Given the description of an element on the screen output the (x, y) to click on. 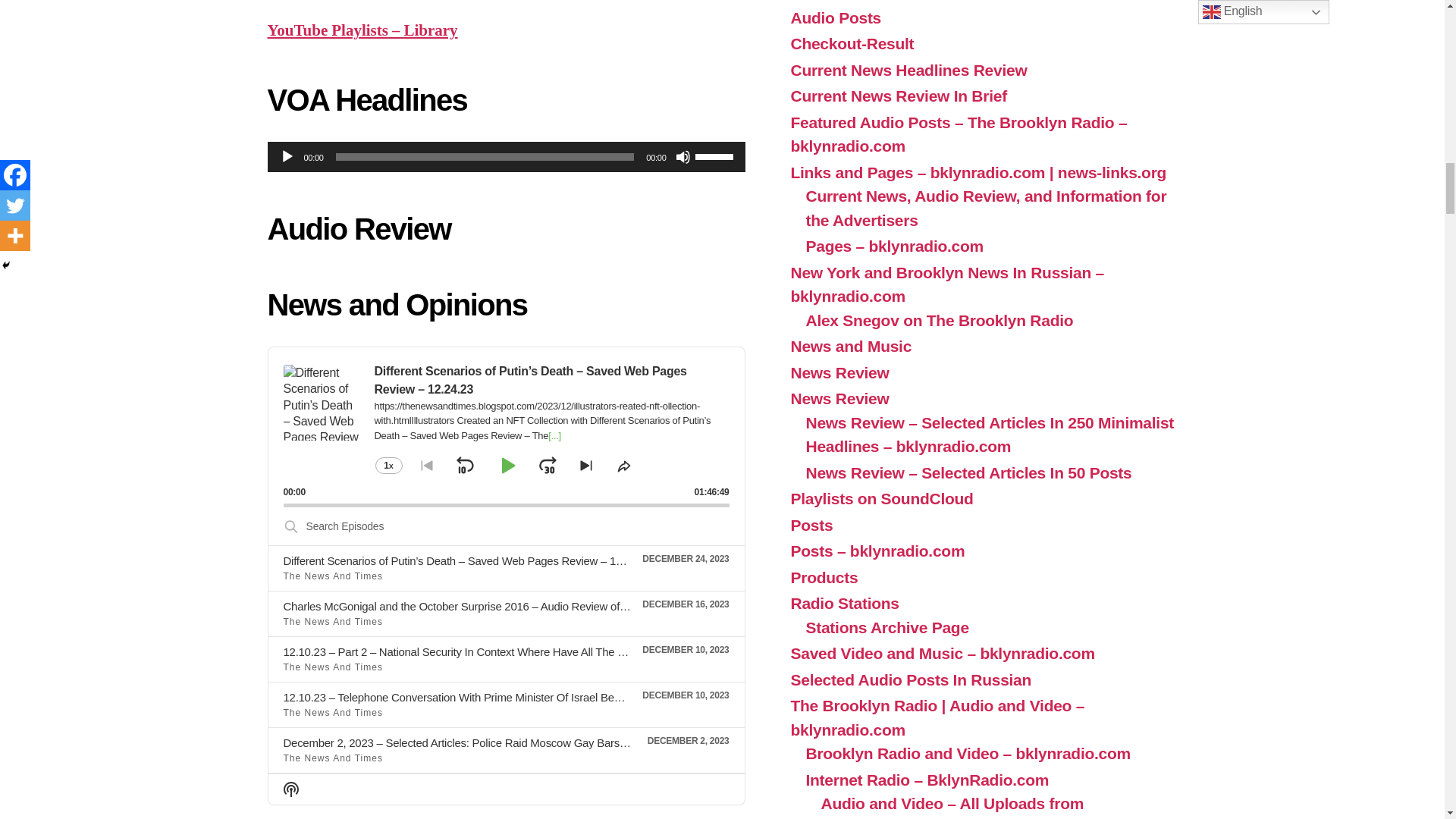
Play (286, 156)
Mute (682, 156)
